Given the description of an element on the screen output the (x, y) to click on. 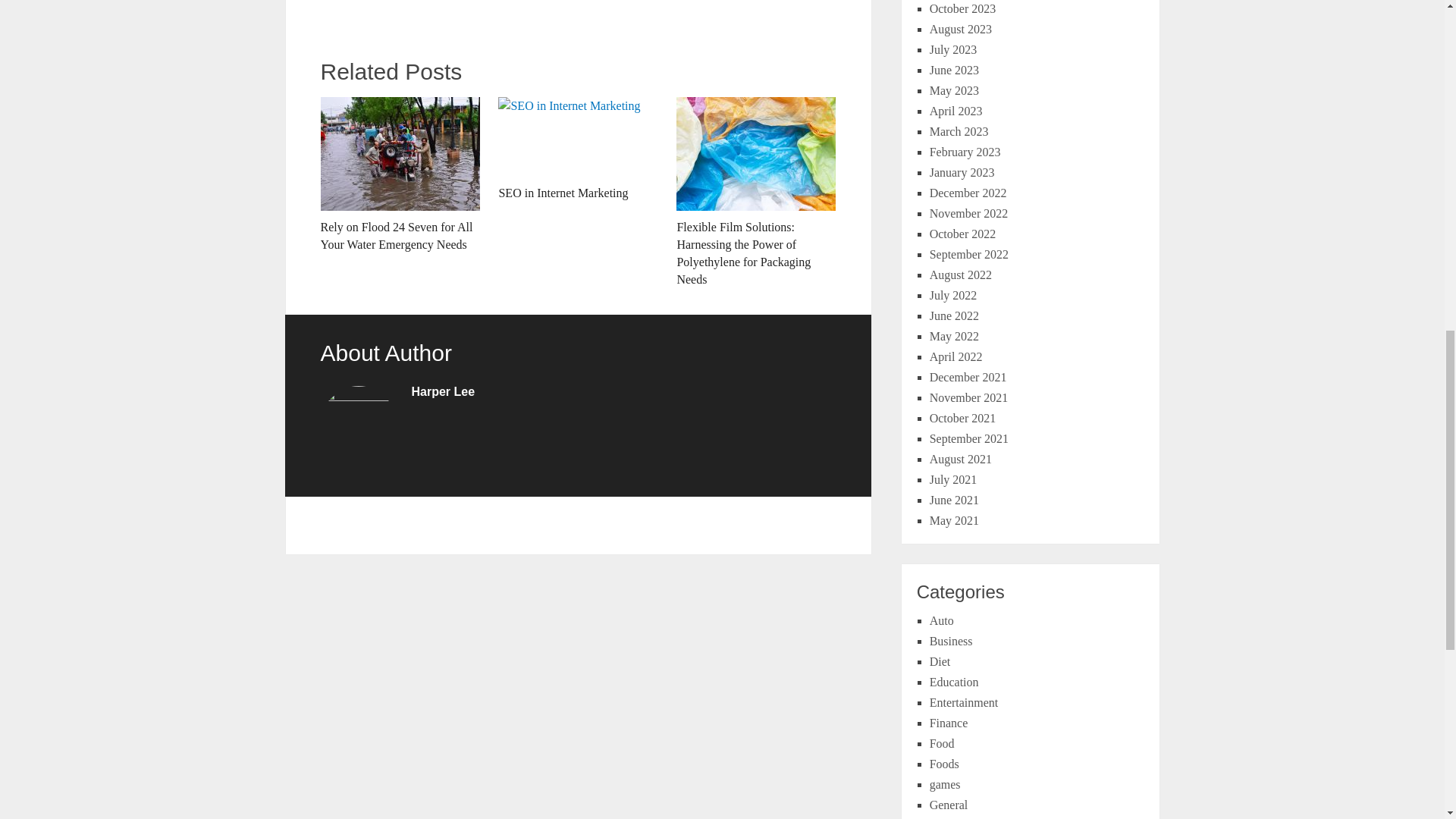
SEO in Internet Marketing (577, 149)
Rely on Flood 24 Seven for All Your Water Emergency Needs (399, 175)
August 2023 (960, 29)
July 2023 (953, 49)
Rely on Flood 24 Seven for All Your Water Emergency Needs (399, 175)
June 2023 (954, 69)
October 2023 (962, 8)
May 2023 (954, 90)
April 2023 (956, 110)
SEO in Internet Marketing (577, 149)
